Given the description of an element on the screen output the (x, y) to click on. 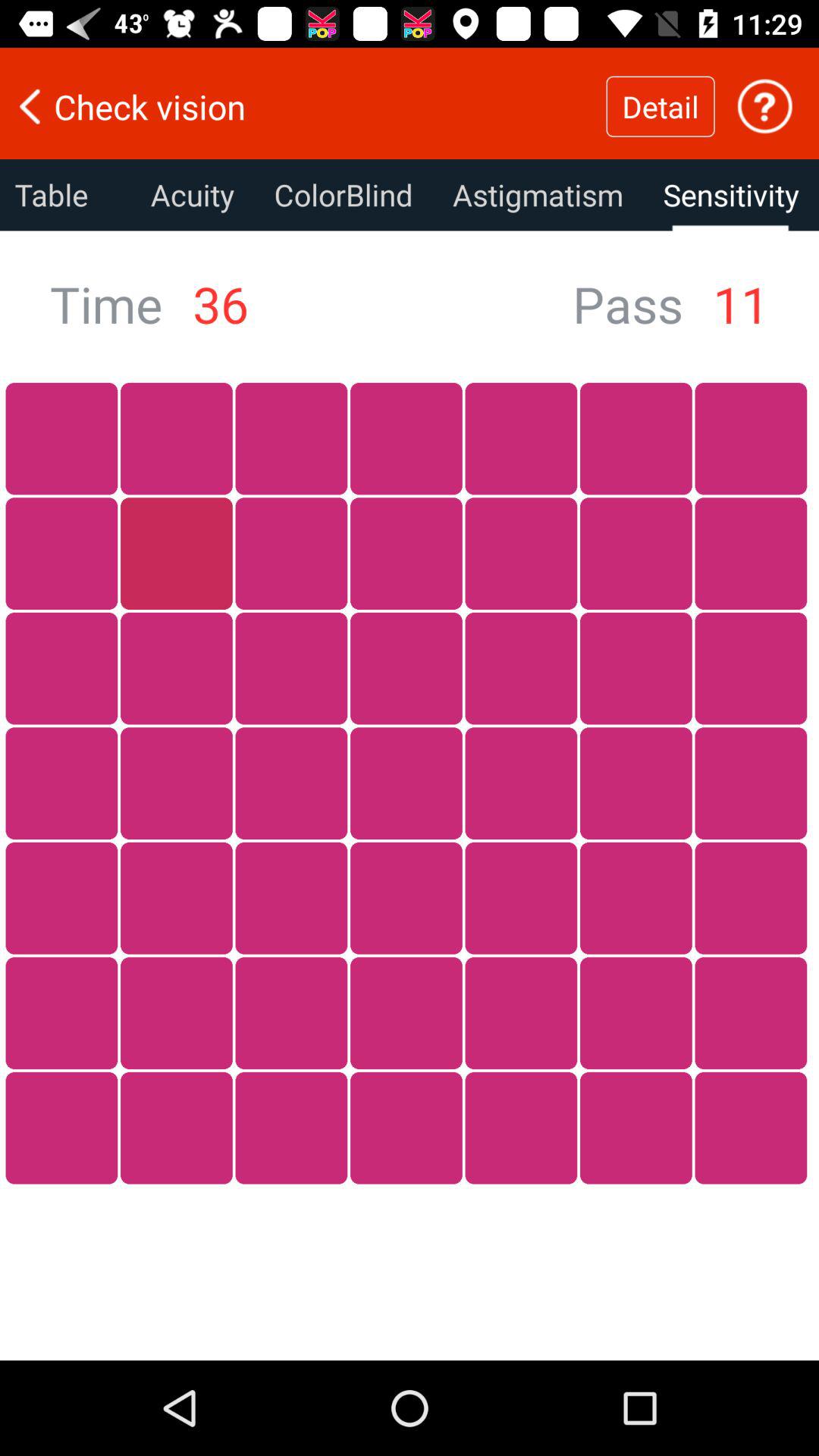
click the item below the check vision item (65, 194)
